Given the description of an element on the screen output the (x, y) to click on. 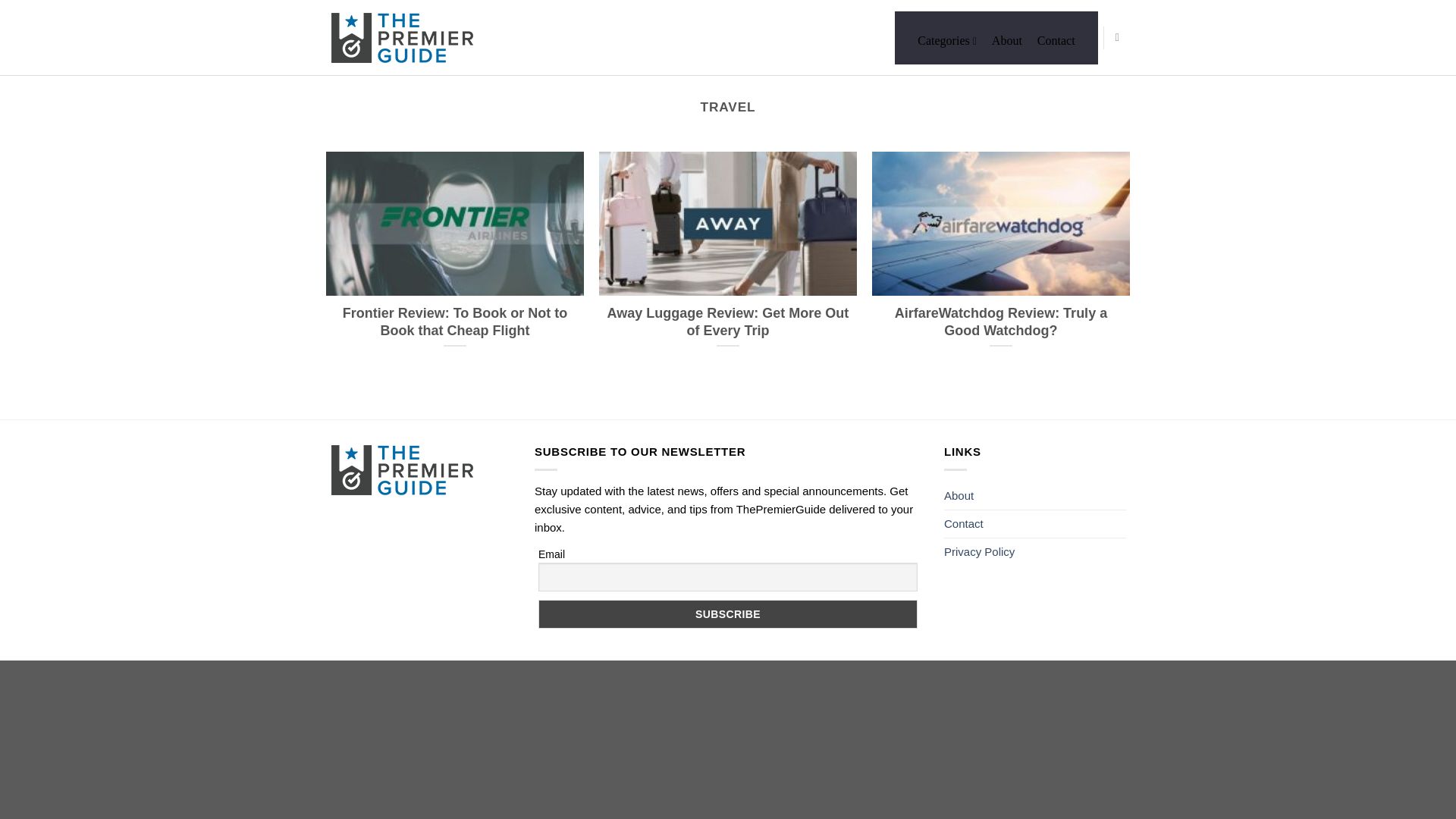
Contact (1056, 39)
Away Luggage Review: Get More Out of Every Trip (727, 258)
About (958, 495)
Frontier Review: To Book or Not to Book that Cheap Flight (454, 258)
Contact (963, 523)
Subscribe (727, 613)
Privacy Policy (978, 551)
Subscribe (727, 613)
AirfareWatchdog Review: Truly a Good Watchdog? (1000, 258)
ThePremierGuide (405, 37)
Categories (947, 39)
